Given the description of an element on the screen output the (x, y) to click on. 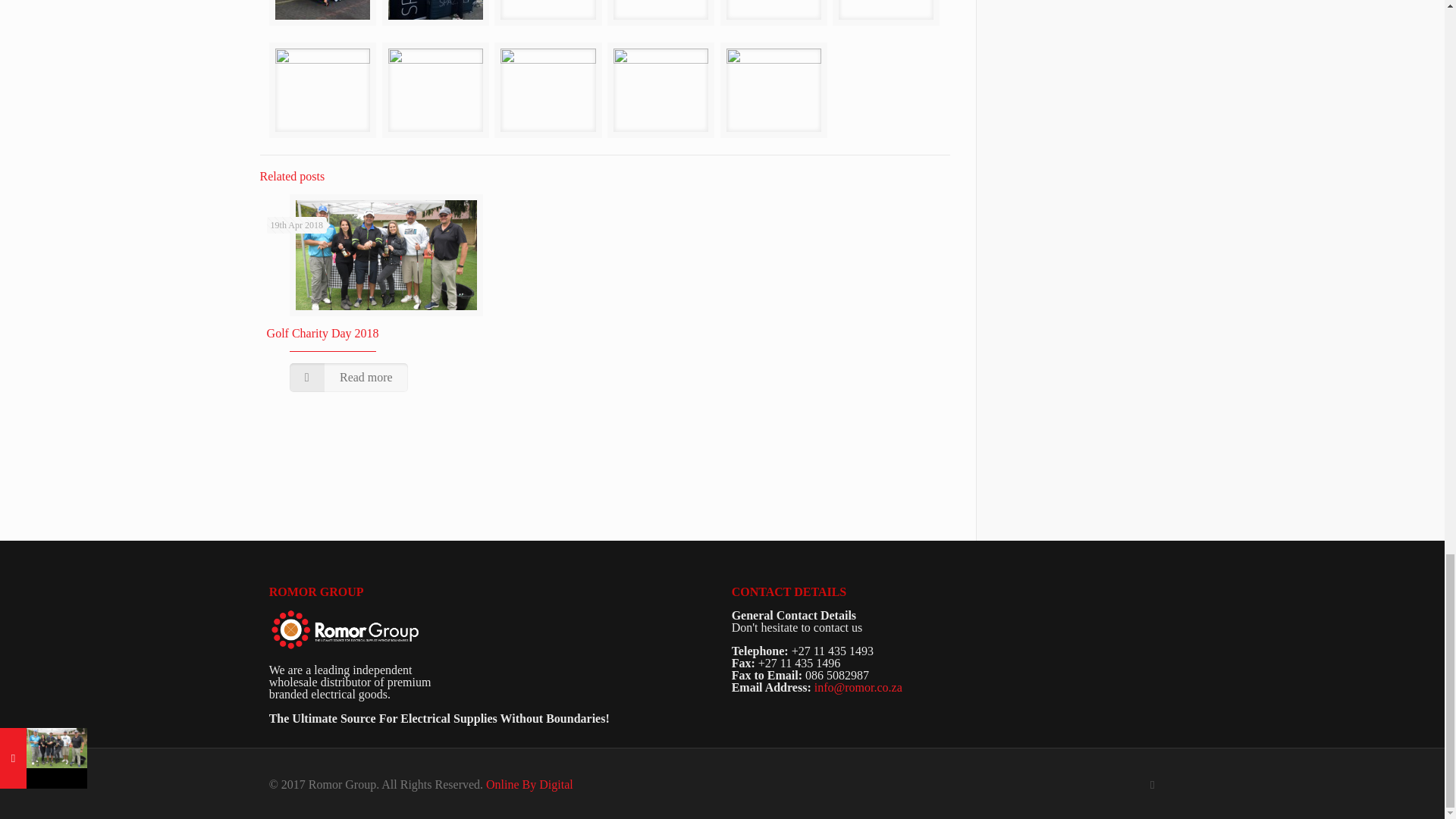
Facebook (1152, 784)
